Given the description of an element on the screen output the (x, y) to click on. 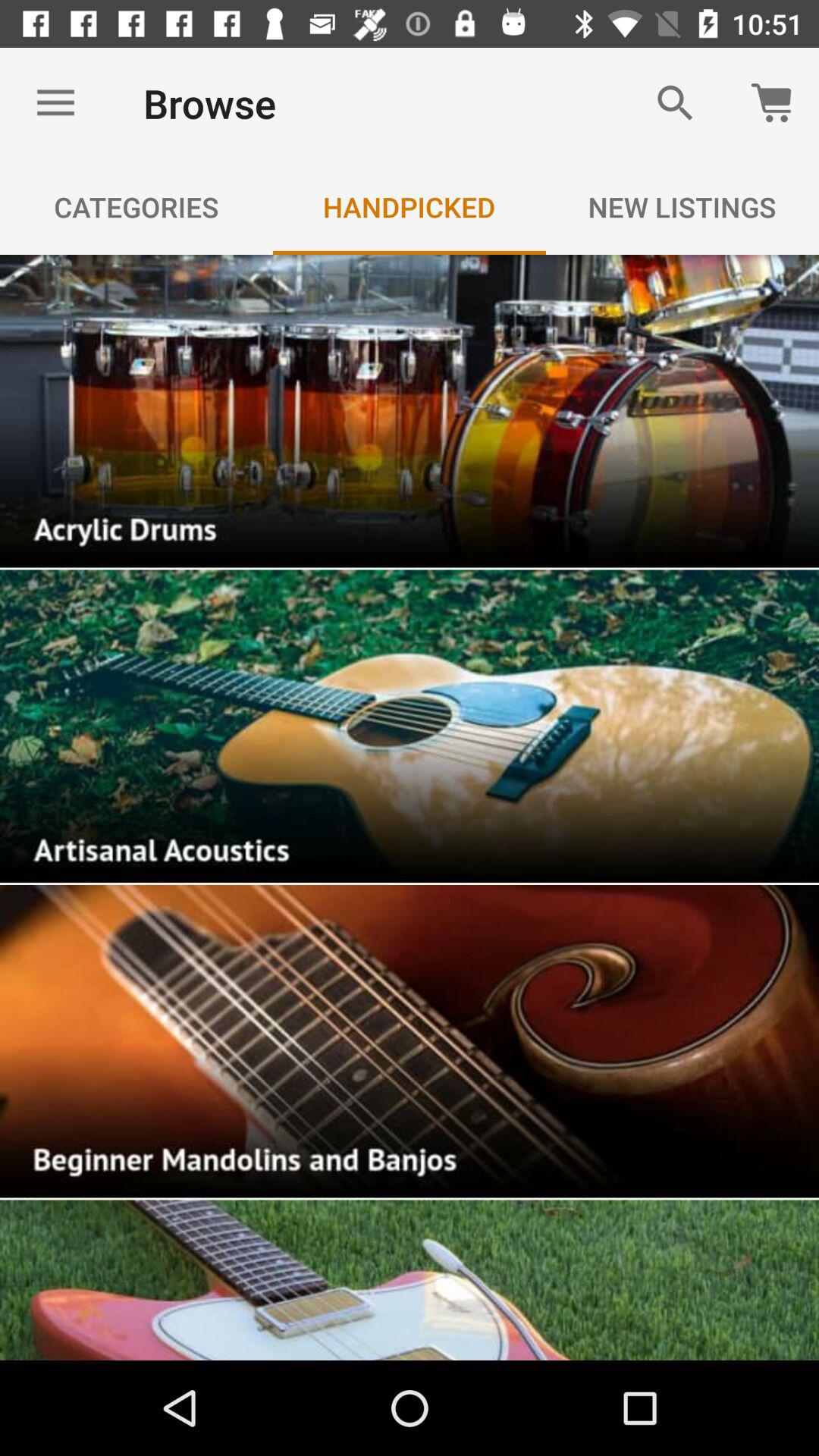
turn off icon to the left of browse item (55, 103)
